Given the description of an element on the screen output the (x, y) to click on. 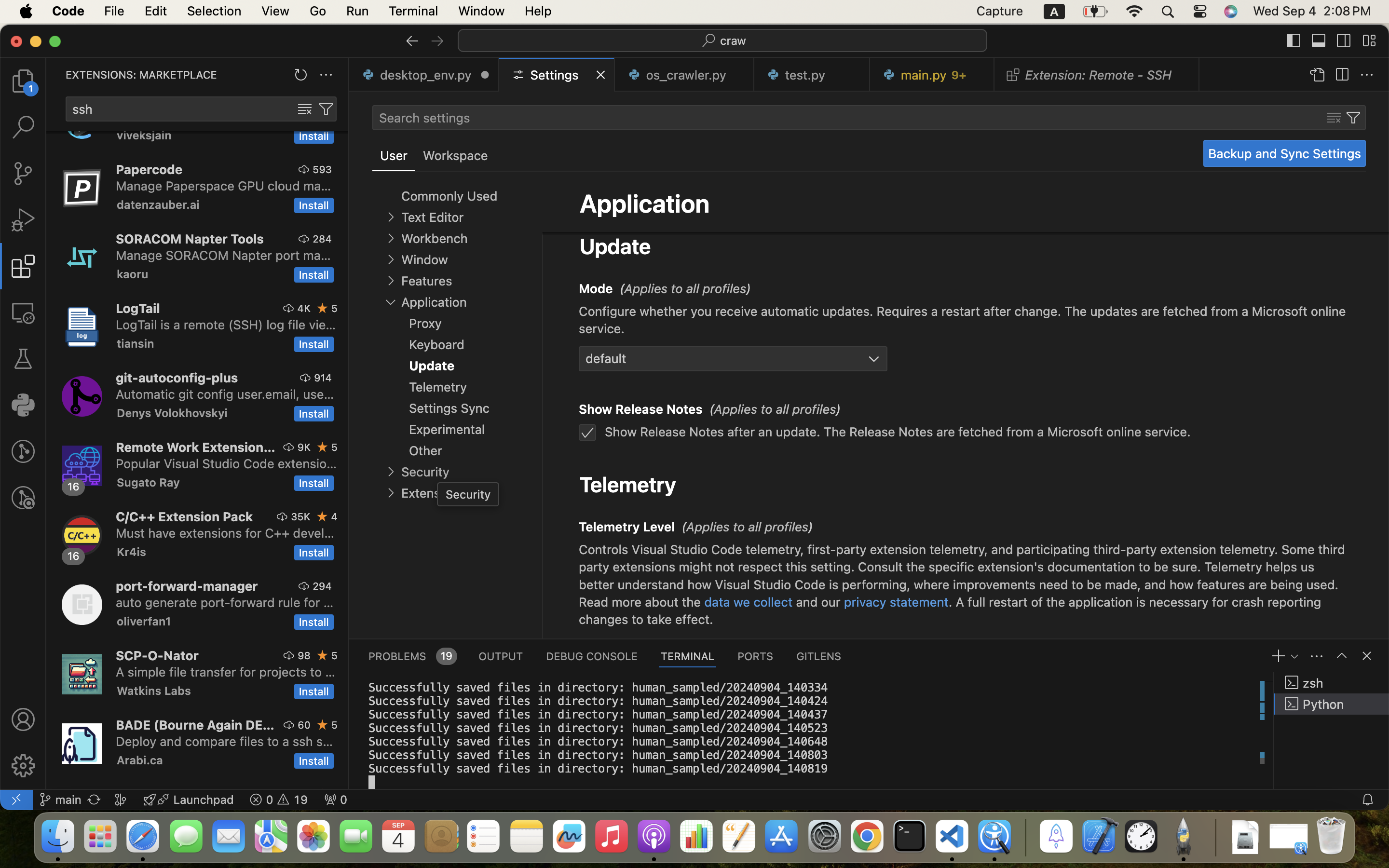
9K Element type: AXStaticText (303, 446)
EXTENSIONS: MARKETPLACE Element type: AXStaticText (141, 74)
0  Element type: AXRadioButton (23, 451)
0  Element type: AXRadioButton (23, 173)
Mode Element type: AXStaticText (595, 288)
